Given the description of an element on the screen output the (x, y) to click on. 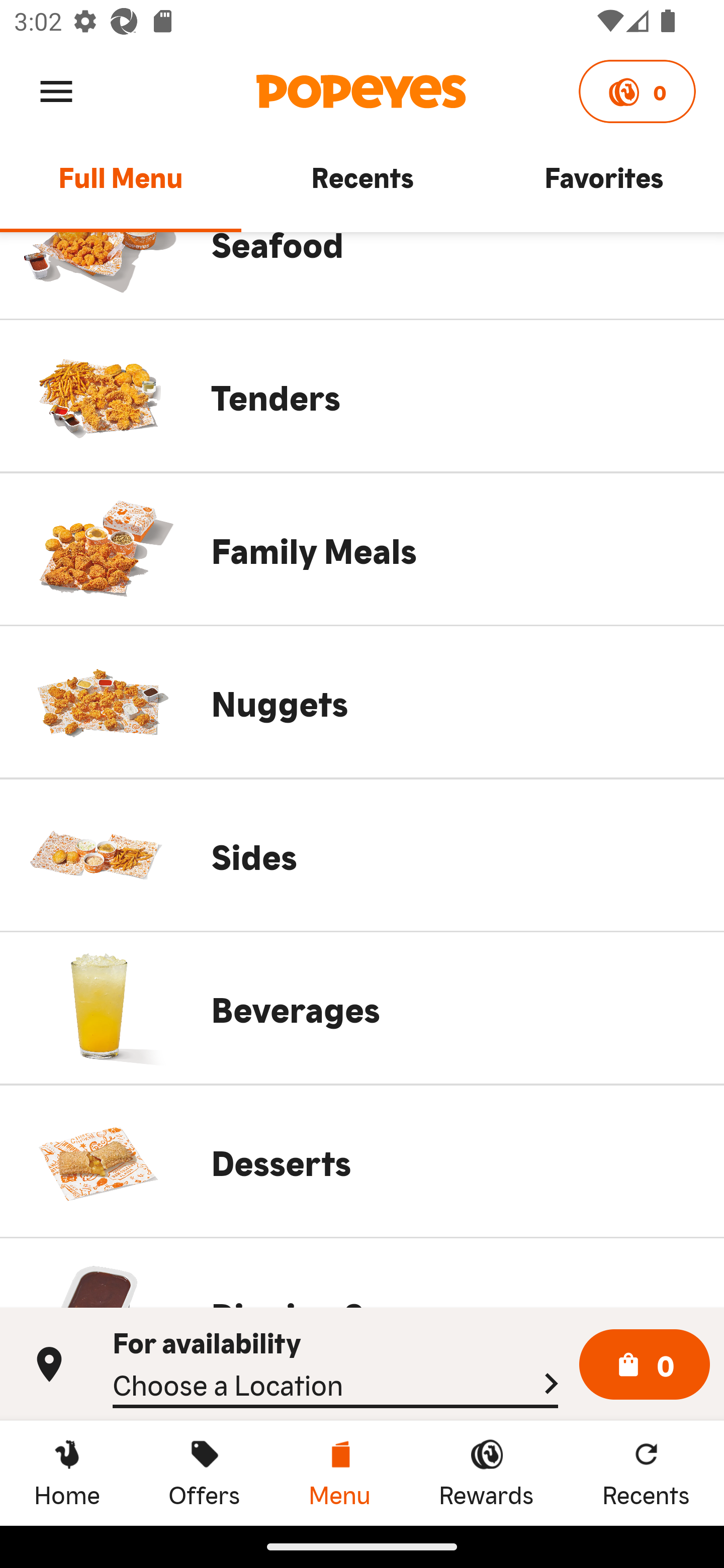
Menu  (56, 90)
0 Points 0 (636, 91)
Full Menu (120, 186)
Recents (361, 186)
Favorites (603, 186)
Seafood, Seafood Seafood Seafood (362, 275)
Chicken Tenders, Tenders Chicken Tenders Tenders (362, 395)
Nuggets, Nuggets Nuggets Nuggets (362, 701)
0 Cart total  0 (644, 1364)
Home Home Home (66, 1472)
Offers Offers Offers (203, 1472)
Menu, current page Menu Menu, current page (339, 1472)
Rewards Rewards Rewards (486, 1472)
Recents Recents Recents (646, 1472)
